Given the description of an element on the screen output the (x, y) to click on. 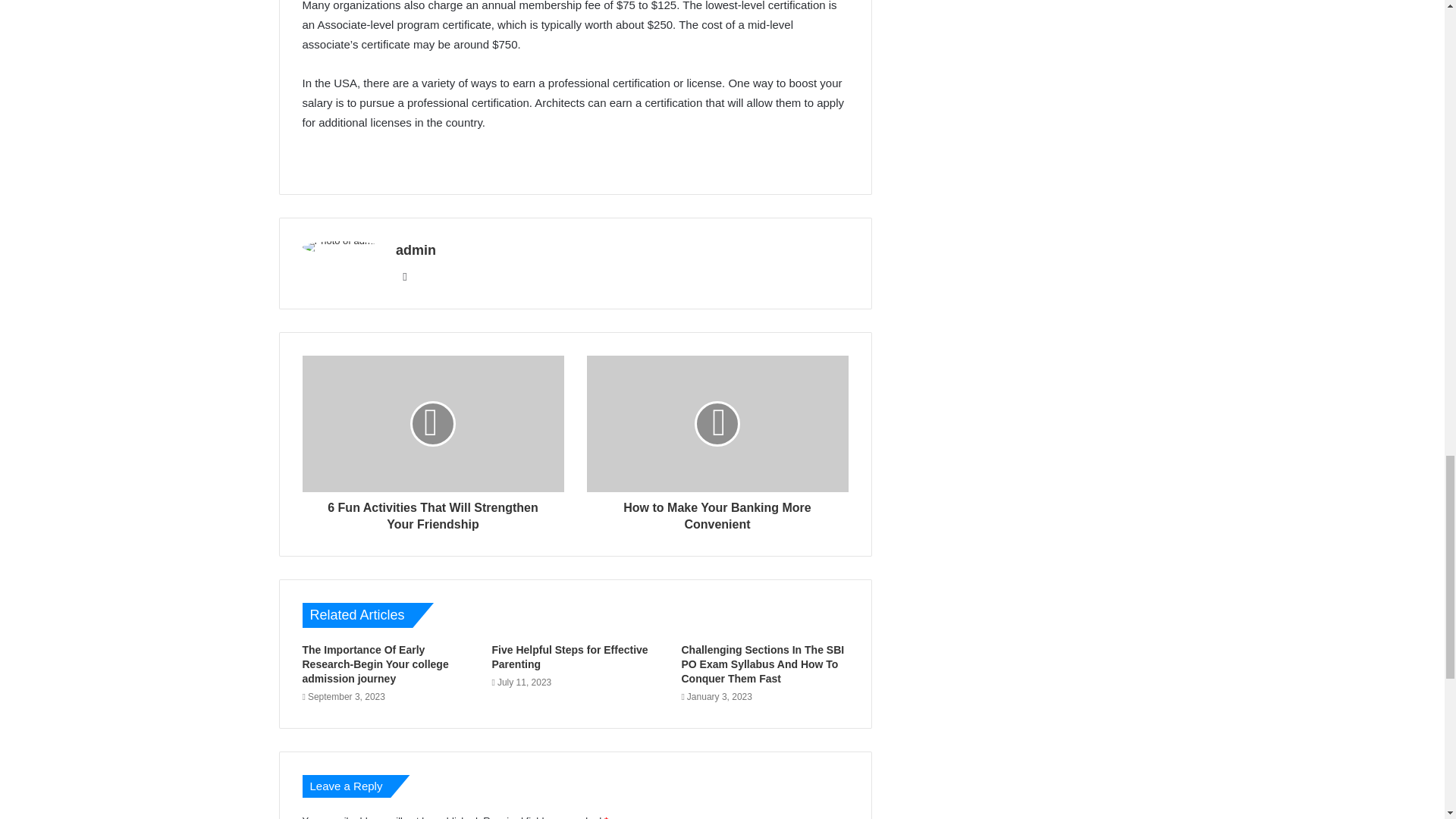
6 Fun Activities That Will Strengthen Your Friendship (432, 512)
Website (404, 276)
How to Make Your Banking More Convenient (717, 512)
admin (415, 249)
Five Helpful Steps for Effective Parenting (569, 656)
